Given the description of an element on the screen output the (x, y) to click on. 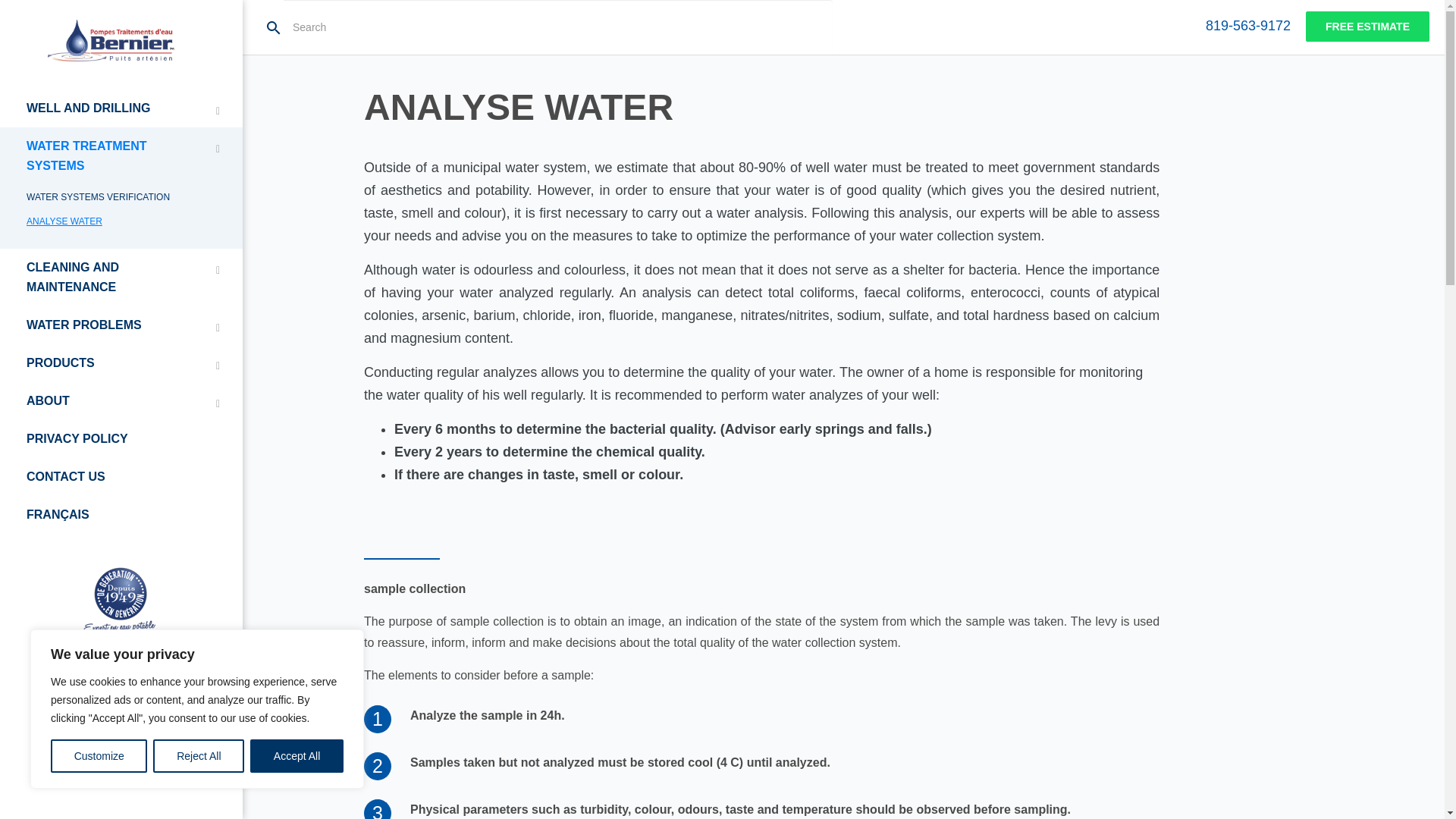
Search (557, 27)
PRODUCTS (121, 362)
Customize (98, 756)
WATER TREATMENT SYSTEMS (121, 156)
WATER SYSTEMS VERIFICATION (121, 197)
Accept All (296, 756)
Pompes Traitements d'eau Bernier inc. (112, 40)
ANALYSE WATER (121, 221)
ABOUT (121, 401)
Reject All (198, 756)
WELL AND DRILLING (121, 108)
CLEANING AND MAINTENANCE (121, 277)
WATER PROBLEMS (121, 324)
